Given the description of an element on the screen output the (x, y) to click on. 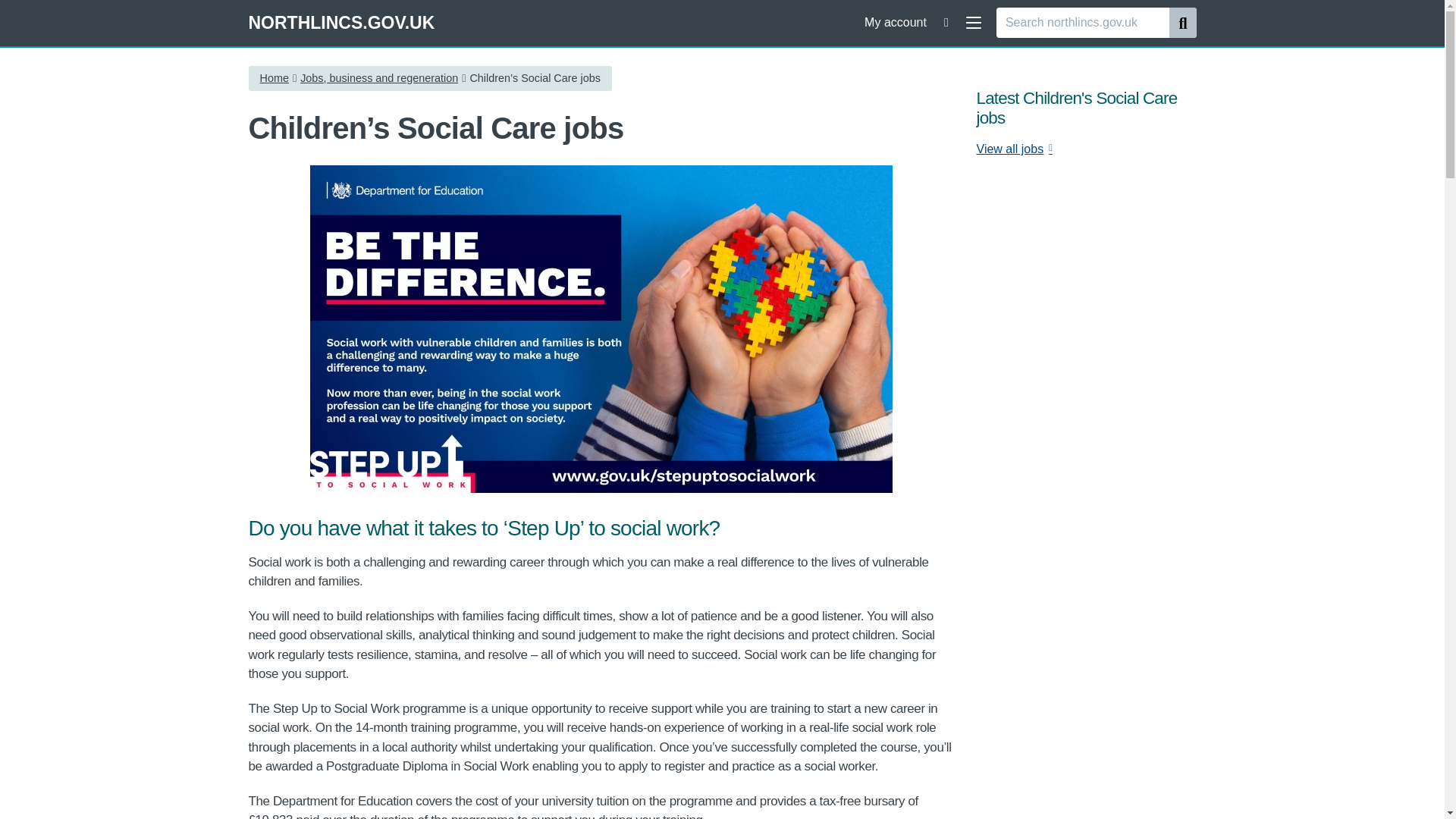
Jobs, business and regeneration (378, 77)
Home (273, 77)
NORTHLINCS.GOV.UK (341, 22)
My account (894, 22)
View all jobs (1015, 148)
